Given the description of an element on the screen output the (x, y) to click on. 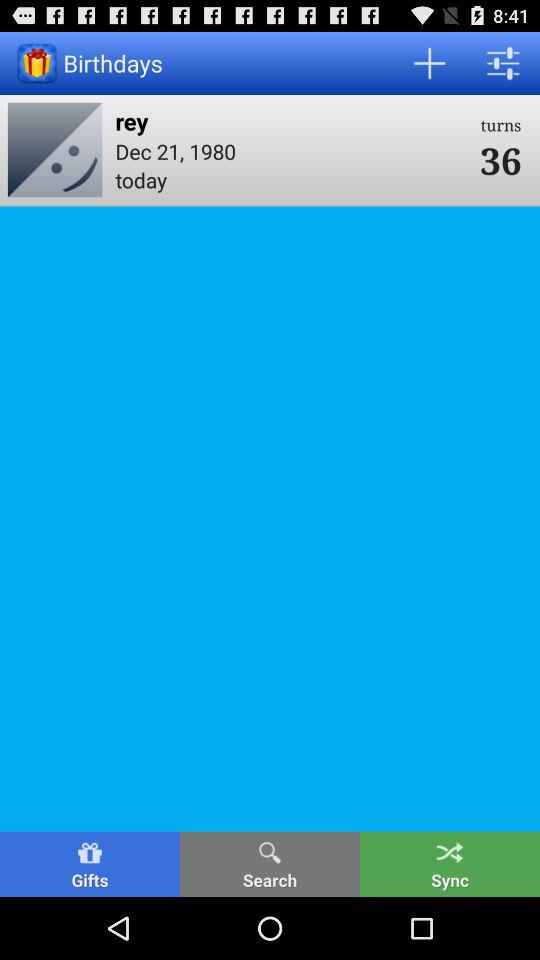
open the icon to the left of 36 icon (291, 120)
